Given the description of an element on the screen output the (x, y) to click on. 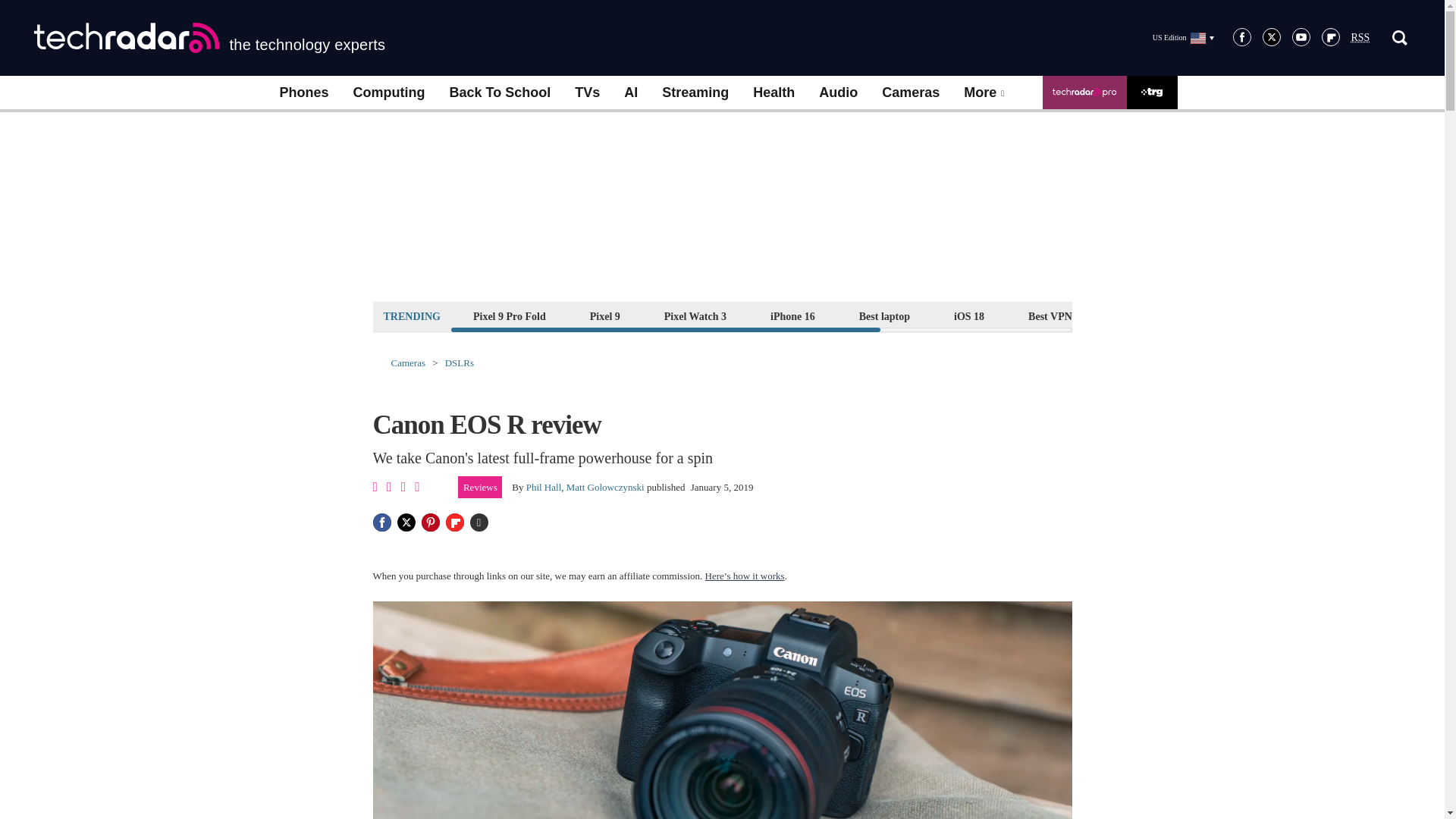
Streaming (695, 92)
Health (773, 92)
AI (630, 92)
Computing (389, 92)
US Edition (1182, 37)
the technology experts (209, 38)
Phones (303, 92)
TVs (586, 92)
Audio (837, 92)
Back To School (499, 92)
